Given the description of an element on the screen output the (x, y) to click on. 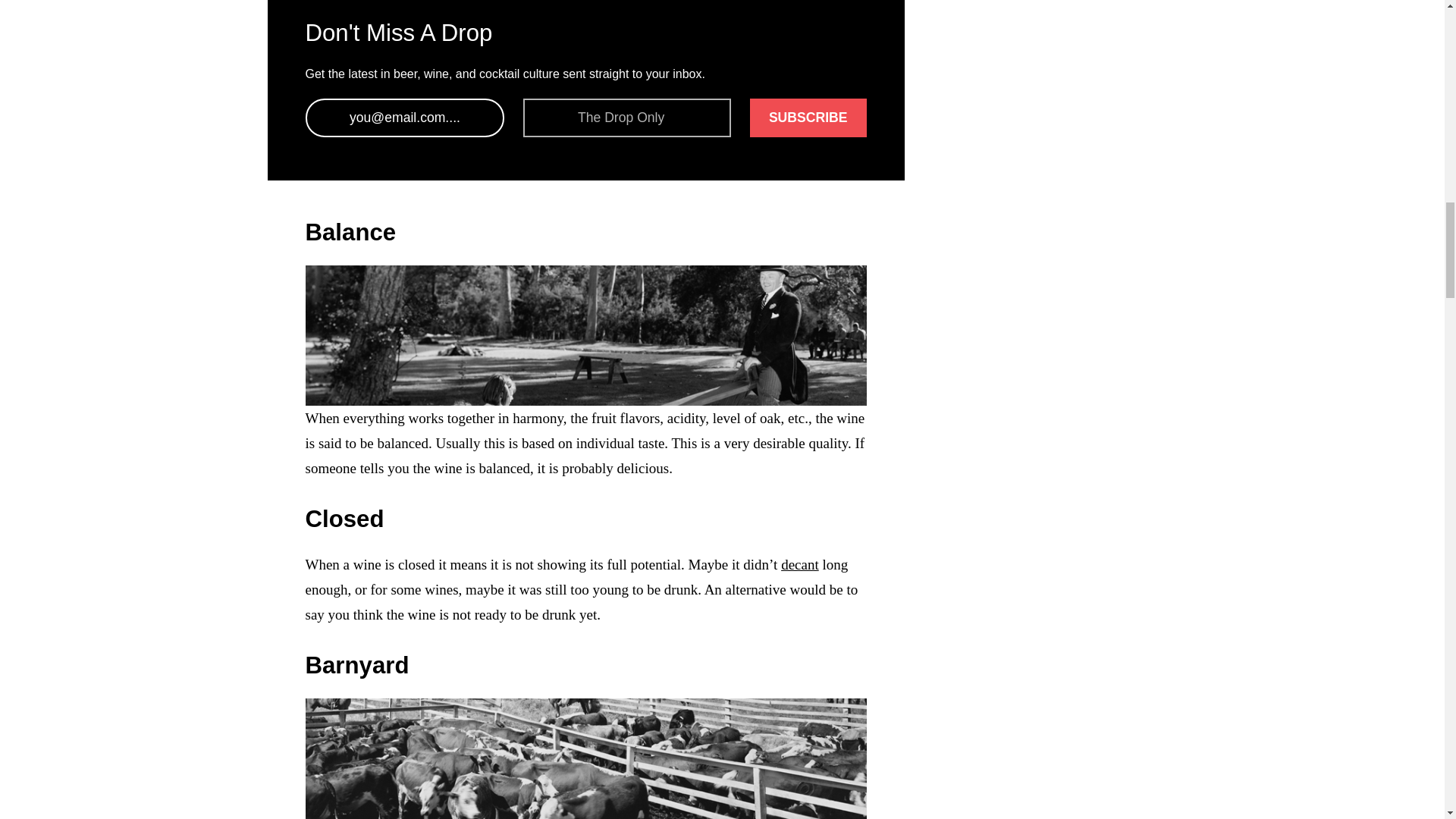
SUBSCRIBE (807, 117)
